Given the description of an element on the screen output the (x, y) to click on. 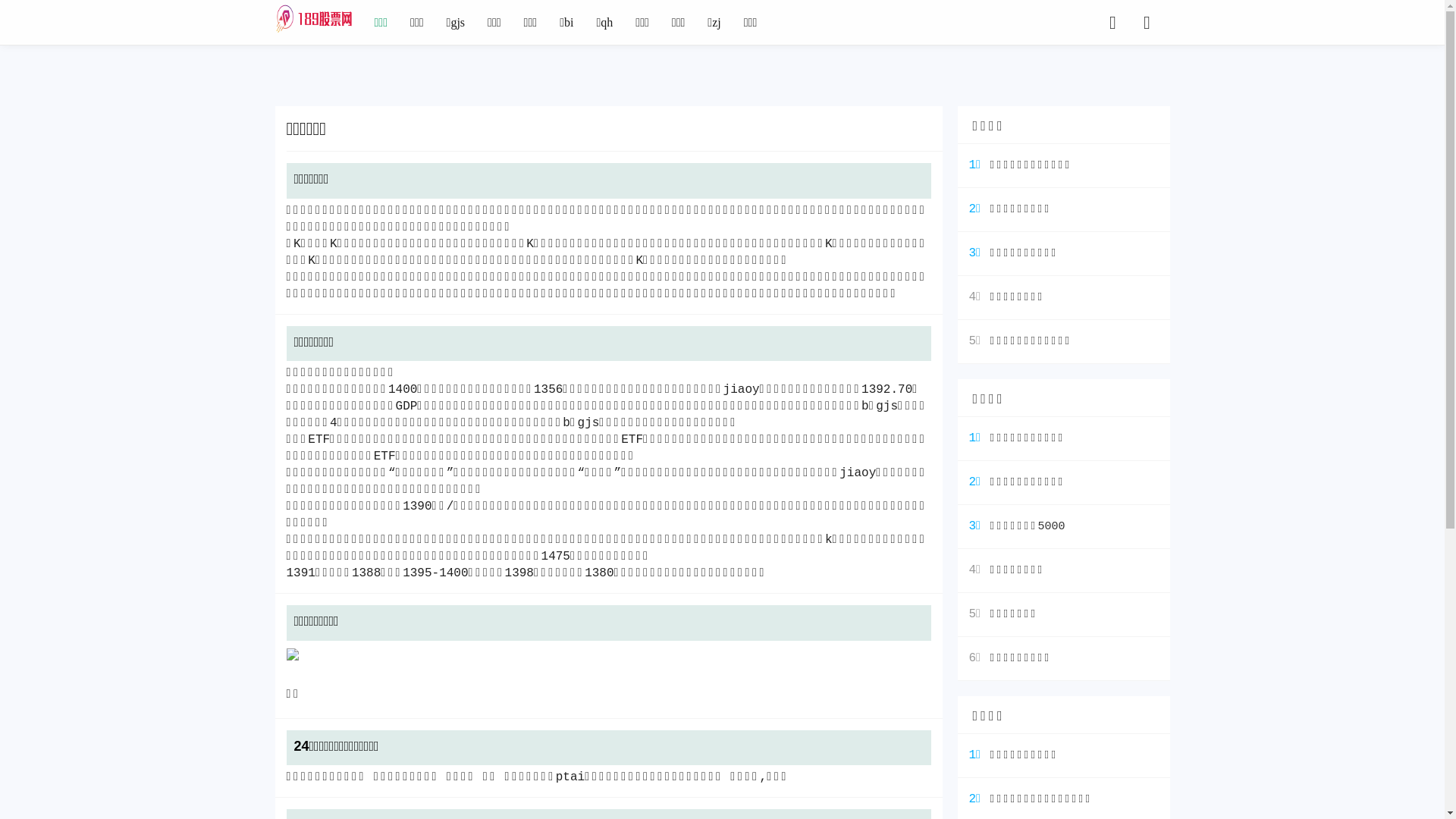
bi Element type: text (566, 22)
qh Element type: text (604, 22)
gjs Element type: text (455, 22)
zj Element type: text (713, 22)
